Given the description of an element on the screen output the (x, y) to click on. 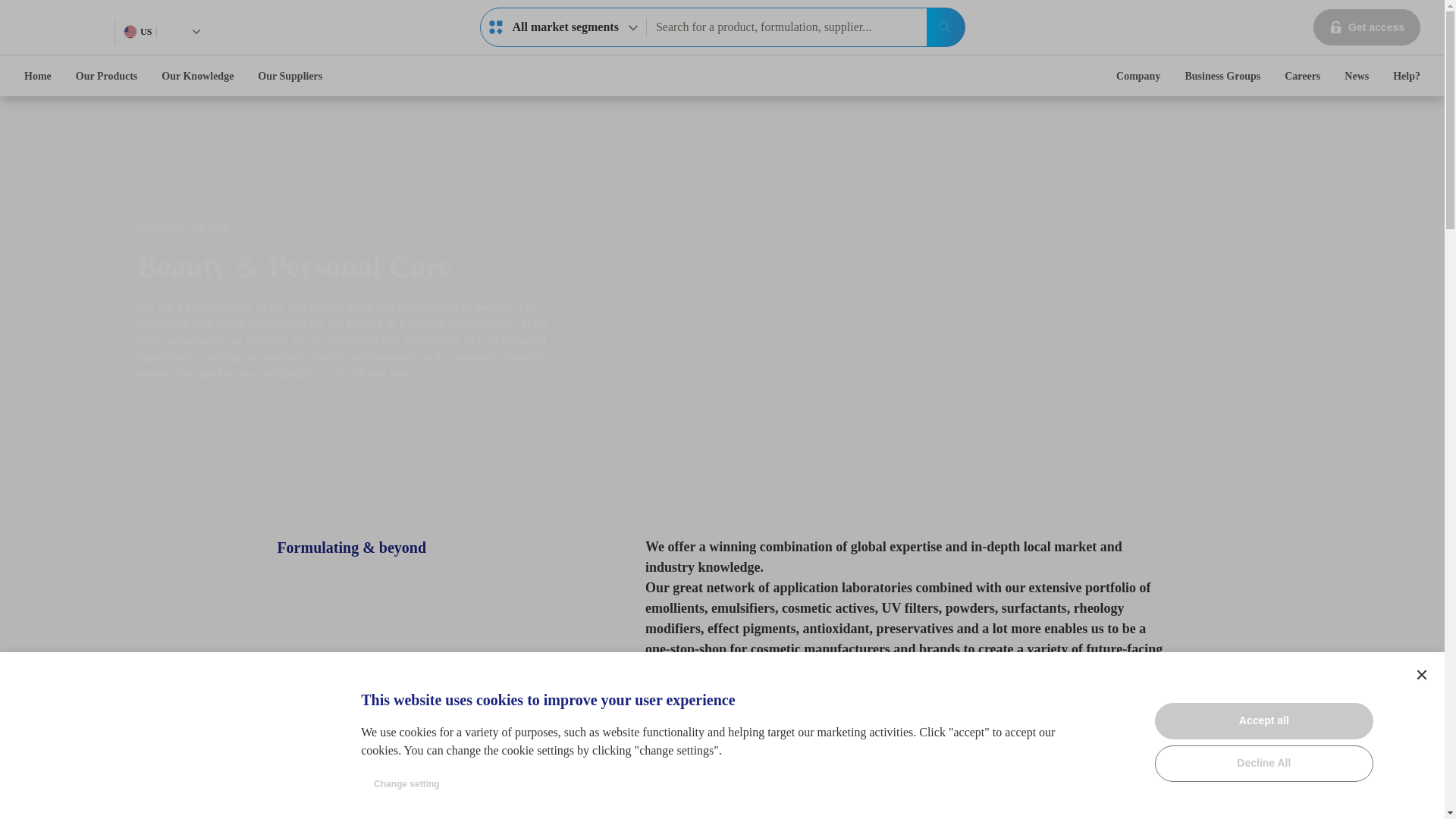
Careers (1302, 76)
Search (944, 27)
all (495, 27)
Get access (1367, 27)
Our Products (106, 76)
US (563, 27)
Home (137, 31)
Company (37, 76)
Business Groups (1137, 76)
